Given the description of an element on the screen output the (x, y) to click on. 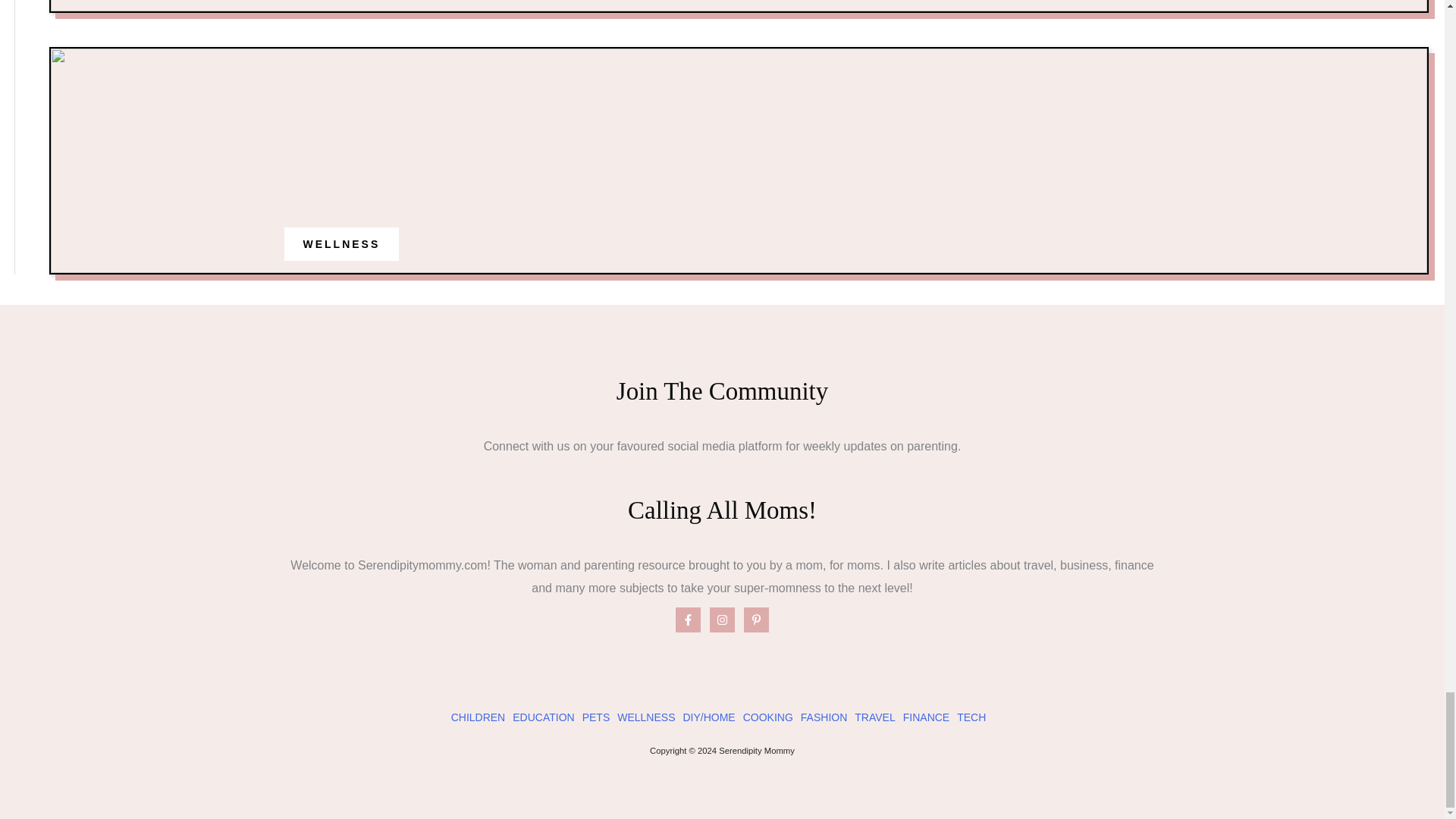
WELLNESS (341, 243)
